Given the description of an element on the screen output the (x, y) to click on. 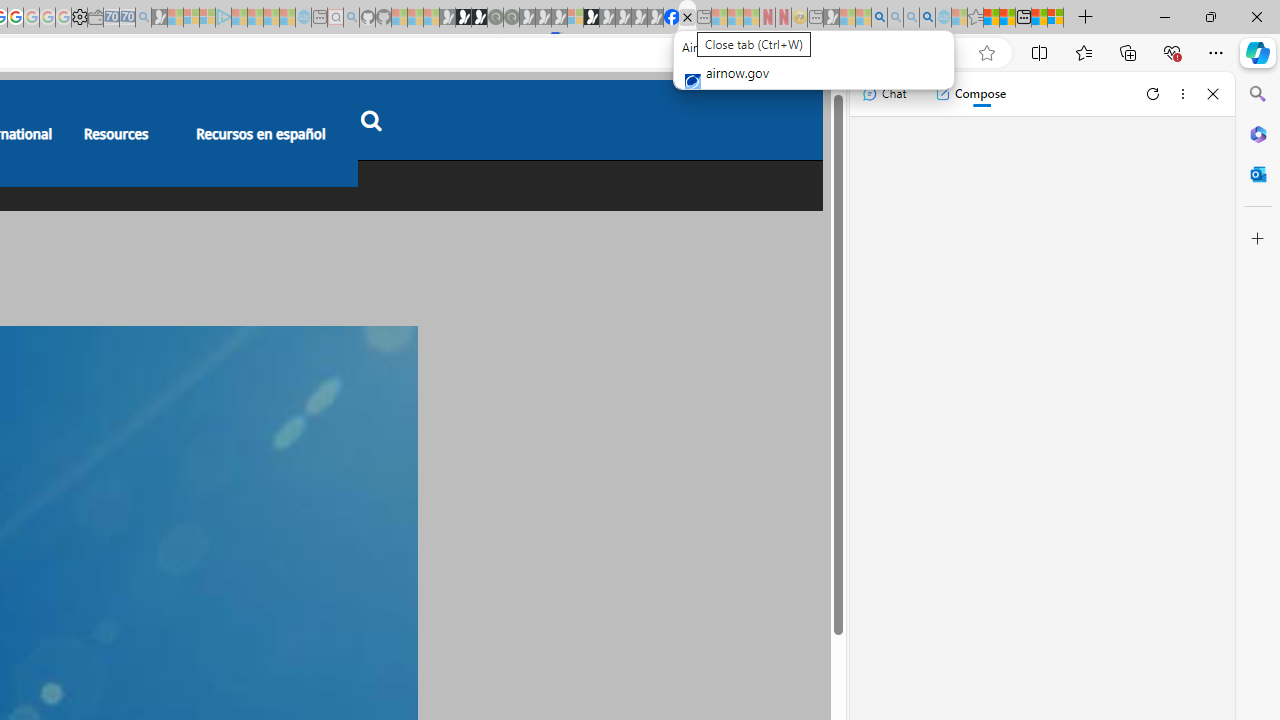
Chat (884, 93)
Future Focus Report 2024 - Sleeping (511, 17)
Aberdeen, Hong Kong SAR weather forecast | Microsoft Weather (1007, 17)
github - Search - Sleeping (351, 17)
